Given the description of an element on the screen output the (x, y) to click on. 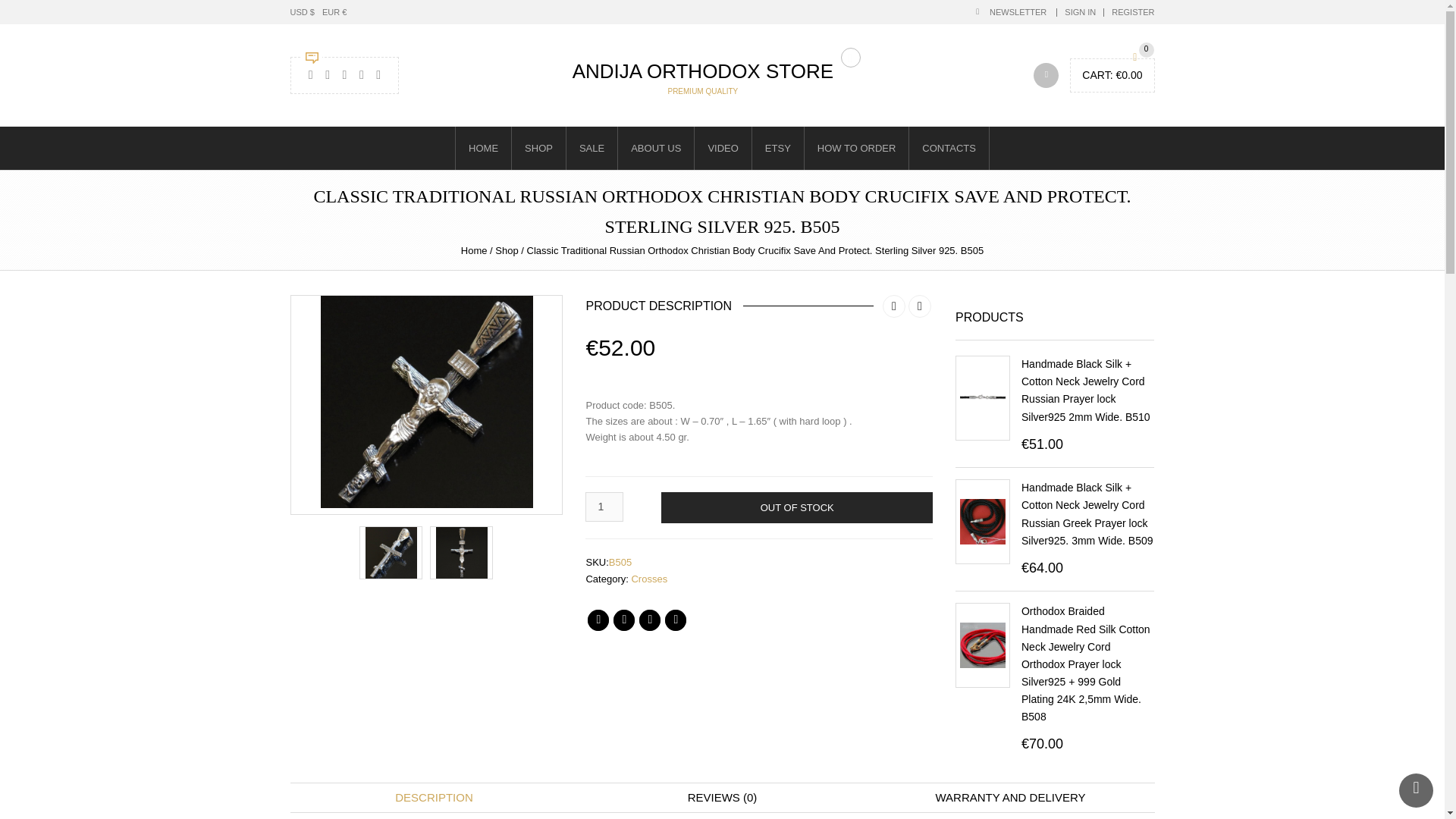
ABOUT US (655, 147)
Home (474, 250)
SIGN IN (1080, 11)
HOW TO ORDER (855, 147)
OUT OF STOCK (797, 507)
CONTACTS (949, 147)
SALE (591, 147)
NEWSLETTER (1009, 11)
HOME (482, 147)
REGISTER (1133, 11)
1 (604, 506)
ETSY (777, 147)
Qty (604, 506)
VIDEO (722, 147)
Shop (506, 250)
